Given the description of an element on the screen output the (x, y) to click on. 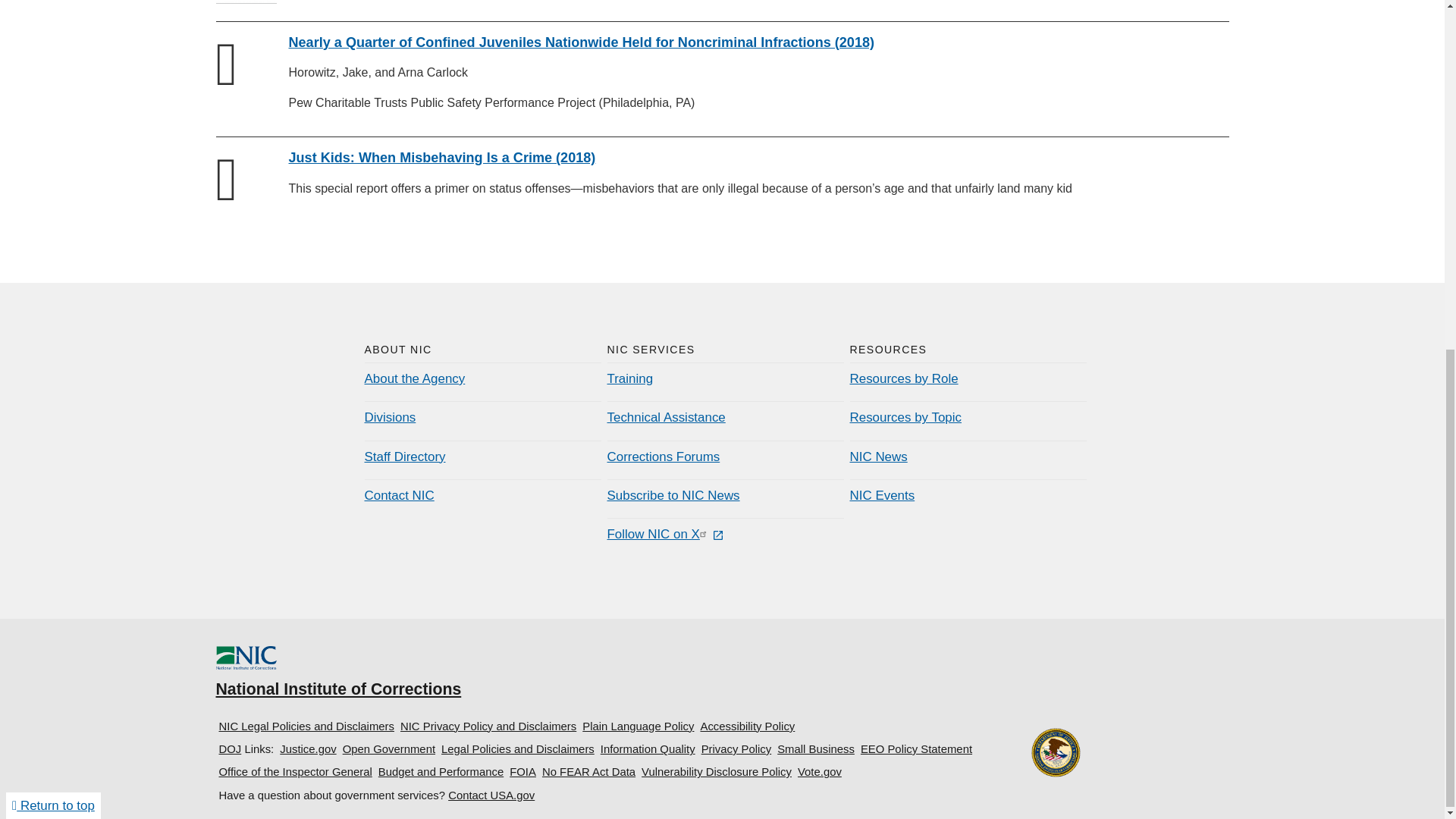
About the Agency (414, 378)
Contact NIC (398, 495)
NIC News (877, 456)
National Institute of Corrections (338, 674)
NIC Events (881, 495)
Training (629, 378)
Staff Directory (404, 456)
Divisions (389, 417)
Return to top (52, 198)
Contact USA.gov (491, 795)
Subscribe to NIC News (673, 495)
Return to top (52, 198)
Technical Assistance (666, 417)
Resources by Topic (904, 417)
Follow NIC on X (665, 534)
